Given the description of an element on the screen output the (x, y) to click on. 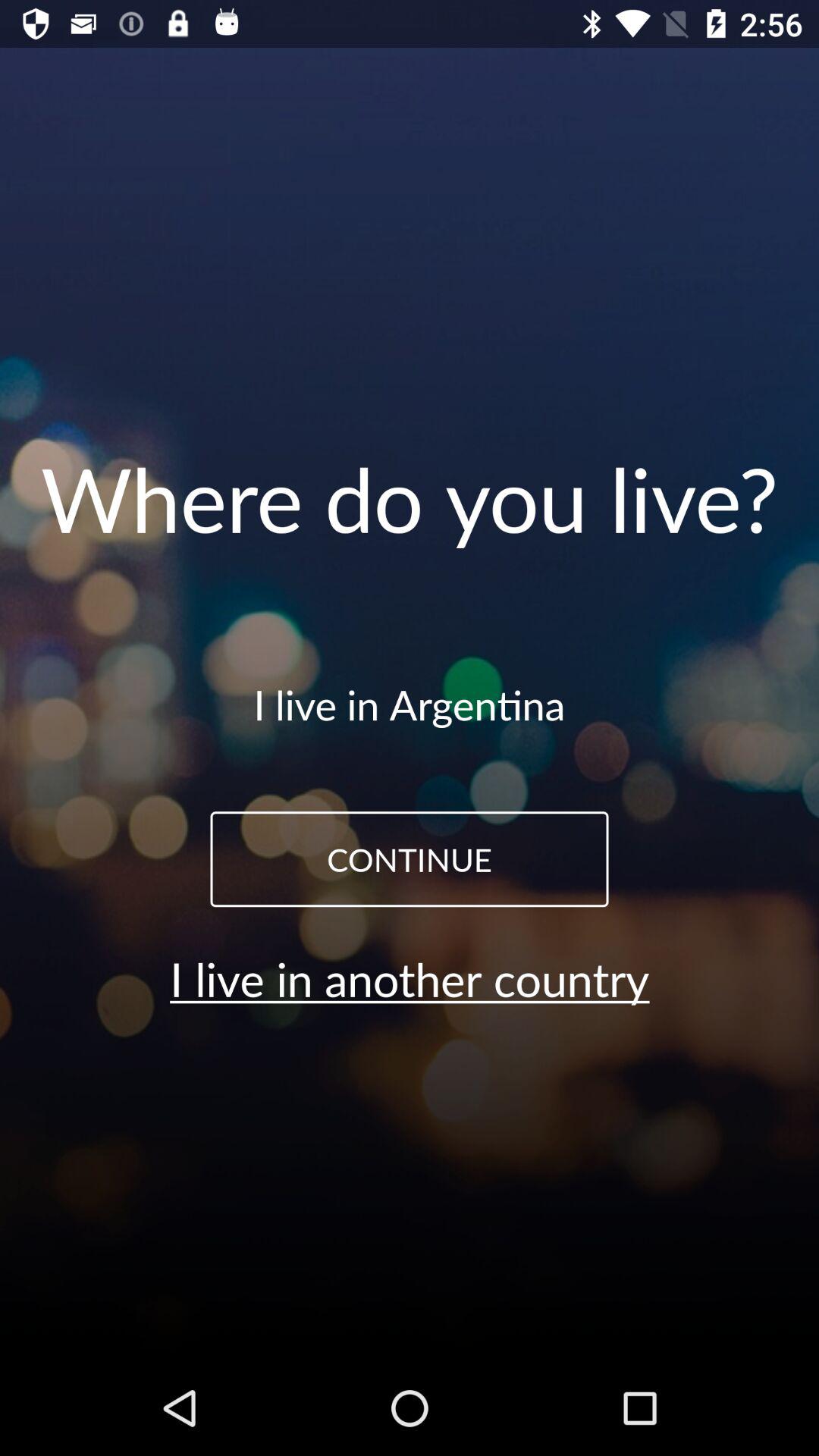
select the continue item (409, 859)
